Given the description of an element on the screen output the (x, y) to click on. 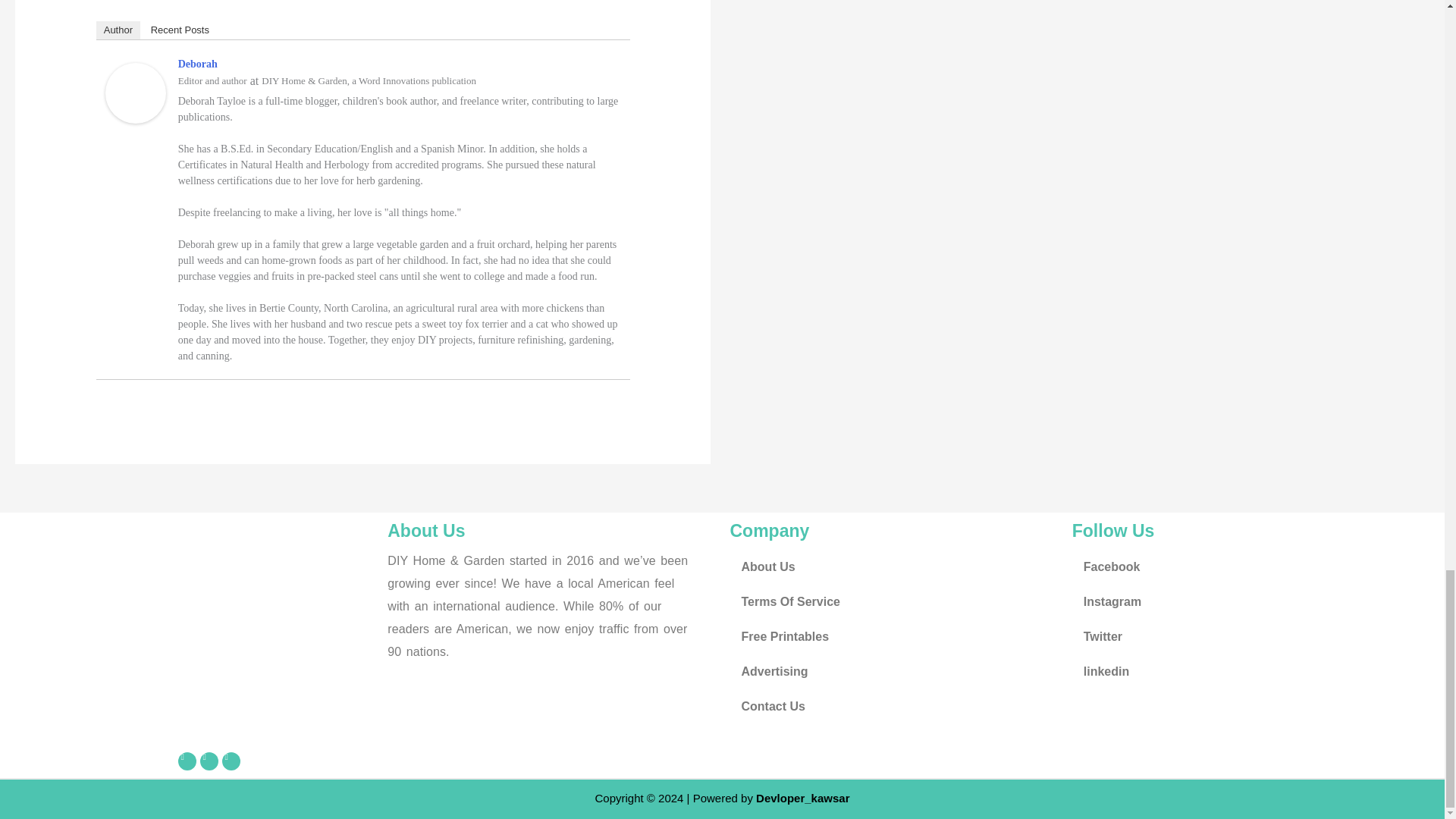
Author (117, 30)
Youtube (231, 761)
Twitter (209, 761)
Terms Of Service (893, 601)
Advertising (893, 671)
Deborah (134, 91)
About Us (893, 566)
Facebook-f (186, 761)
Recent Posts (179, 30)
Deborah (196, 63)
Free Printables (893, 636)
Contact Us (893, 706)
Instagram (1235, 601)
Facebook (1235, 566)
